Given the description of an element on the screen output the (x, y) to click on. 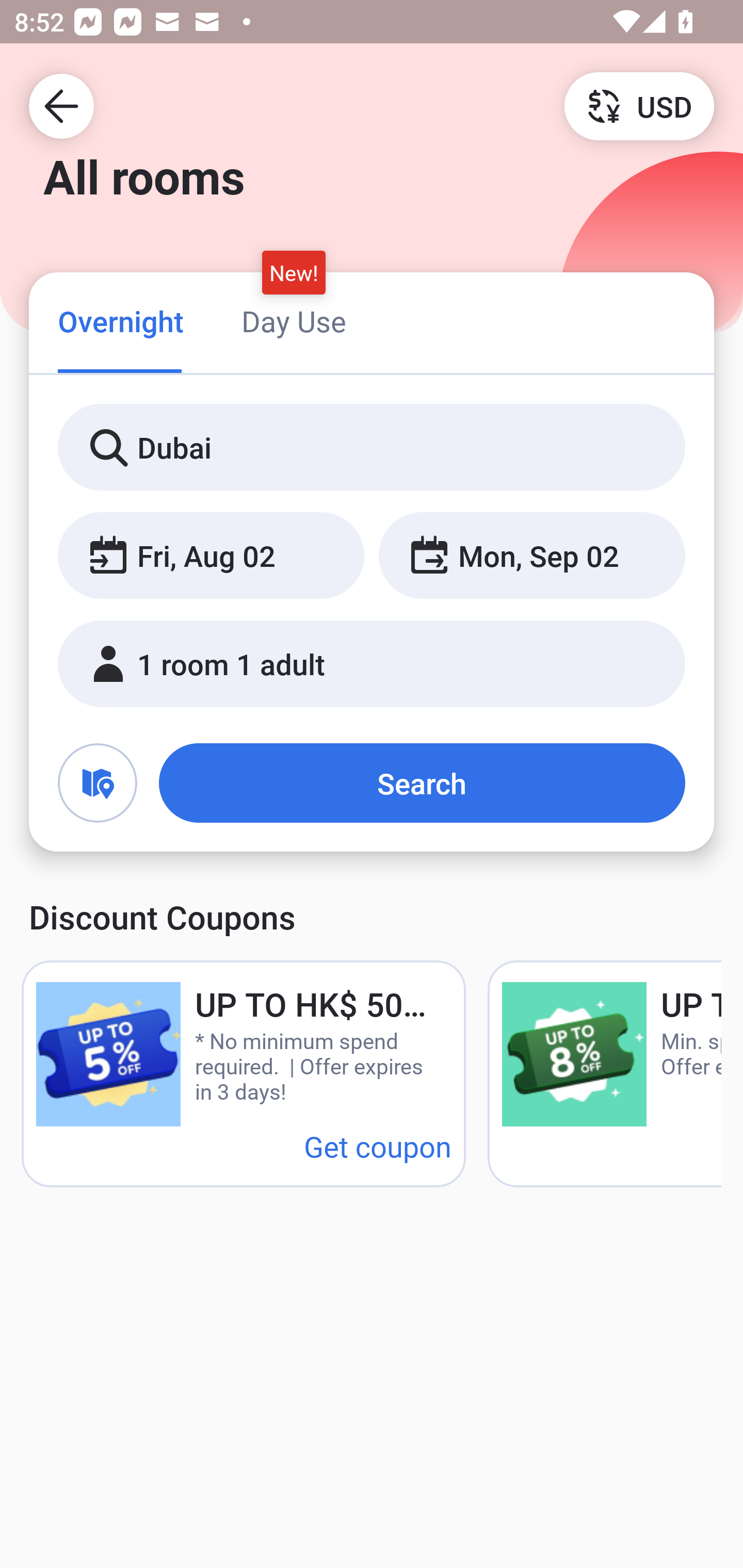
USD (639, 105)
New! (294, 272)
Day Use (293, 321)
Dubai (371, 447)
Fri, Aug 02 (210, 555)
Mon, Sep 02 (531, 555)
1 room 1 adult (371, 663)
Search (422, 783)
Get coupon (377, 1146)
